Given the description of an element on the screen output the (x, y) to click on. 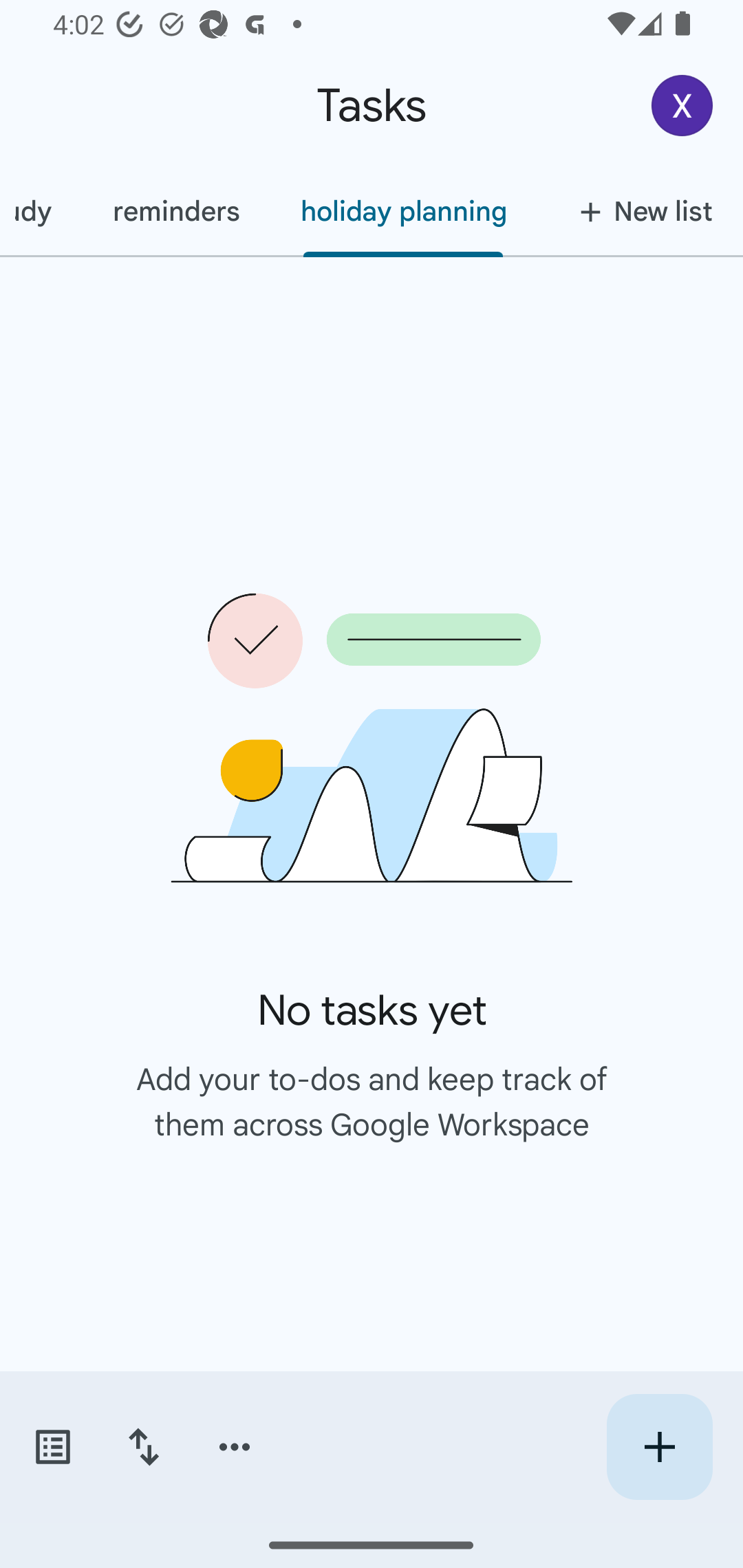
Study (40, 211)
reminders (175, 211)
New list (640, 211)
Switch task lists (52, 1447)
Create new task (659, 1446)
Change sort order (143, 1446)
More options (234, 1446)
